Given the description of an element on the screen output the (x, y) to click on. 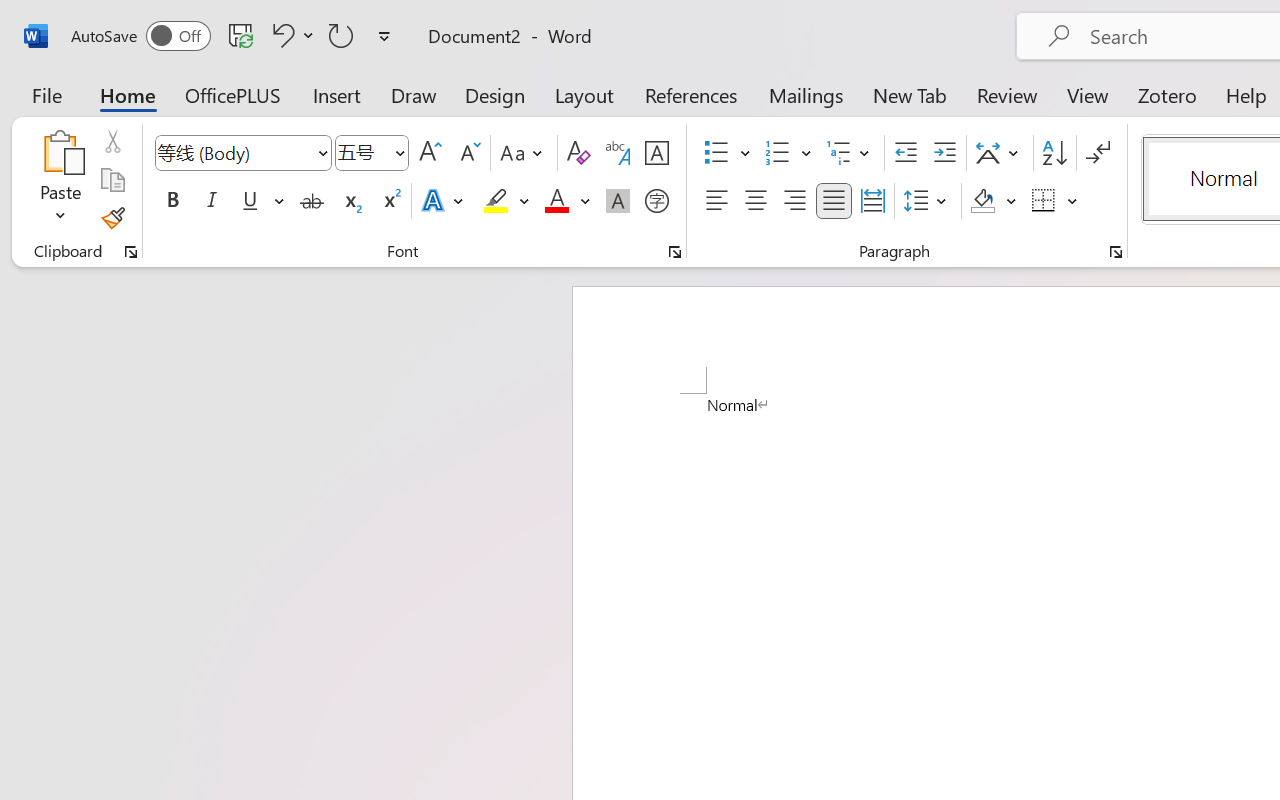
Sort... (1054, 153)
File Tab (46, 94)
More Options (1073, 201)
Format Painter (112, 218)
Numbering (788, 153)
Paste (60, 151)
Line and Paragraph Spacing (927, 201)
Design (495, 94)
Bullets (727, 153)
Distributed (872, 201)
Shrink Font (468, 153)
Character Shading (618, 201)
Grow Font (430, 153)
View (1087, 94)
